Given the description of an element on the screen output the (x, y) to click on. 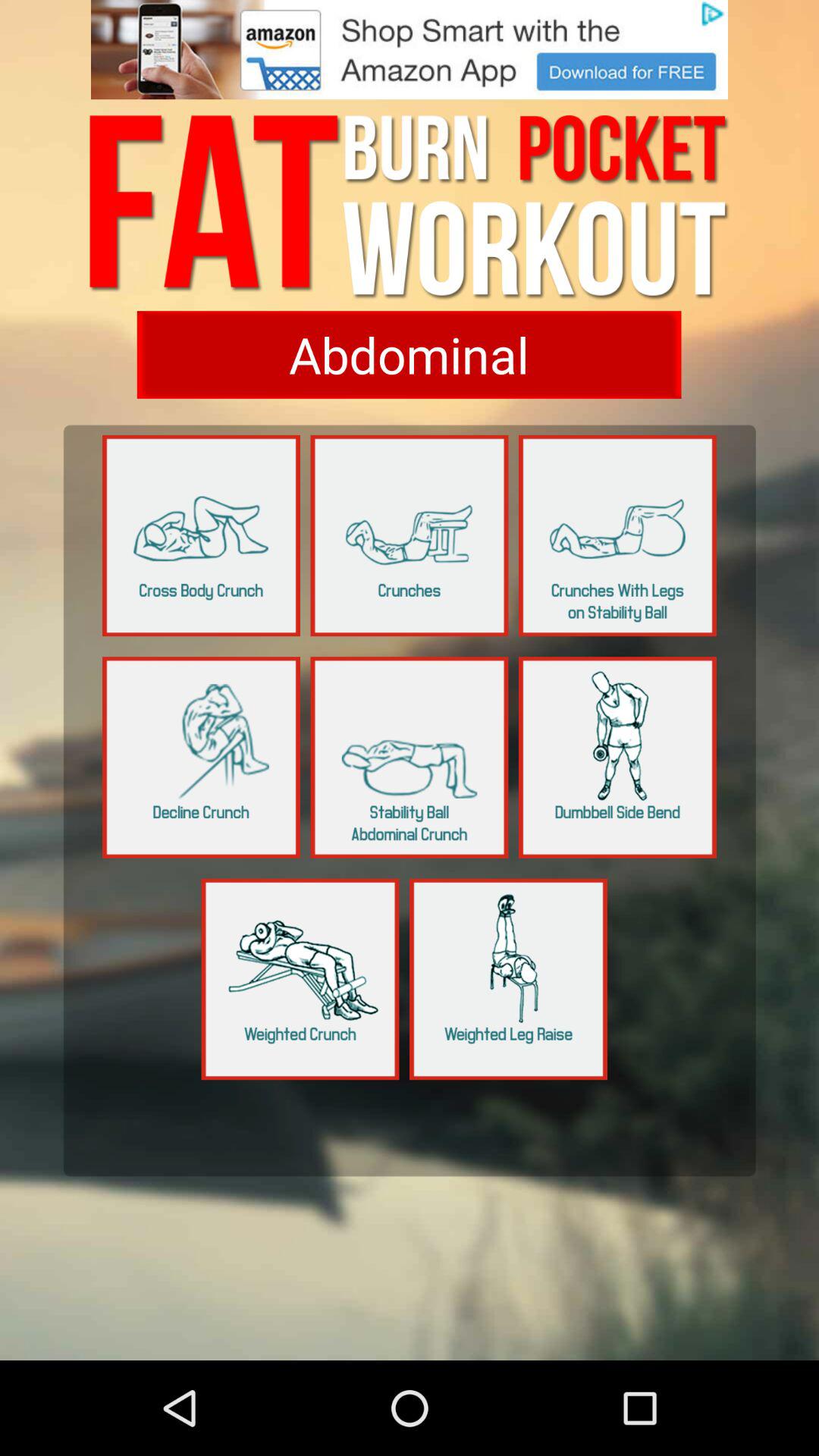
advertisement box (409, 49)
